Given the description of an element on the screen output the (x, y) to click on. 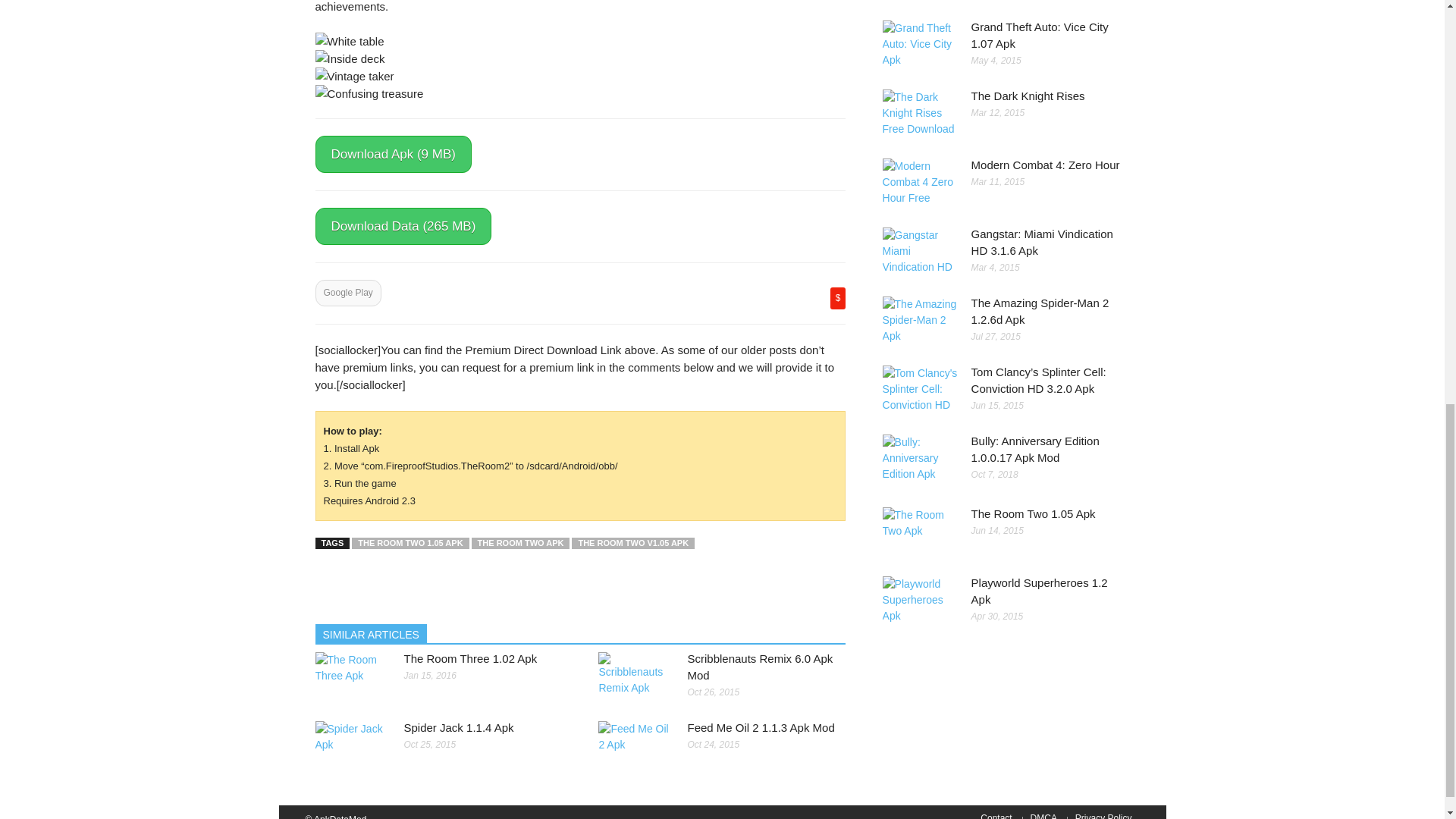
Scribblenauts Remix 6.0 Apk Mod (759, 666)
Feed Me Oil 2 1.1.3 Apk Mod (760, 727)
Feed Me Oil 2 1.1.3 Apk Mod (760, 727)
Google Play (348, 293)
The Room Three 1.02 Apk (470, 658)
THE ROOM TWO V1.05 APK (633, 542)
THE ROOM TWO APK (520, 542)
The Room Three 1.02 Apk (470, 658)
Scribblenauts Remix 6.0 Apk Mod (759, 666)
Spider Jack 1.1.4 Apk (458, 727)
